Given the description of an element on the screen output the (x, y) to click on. 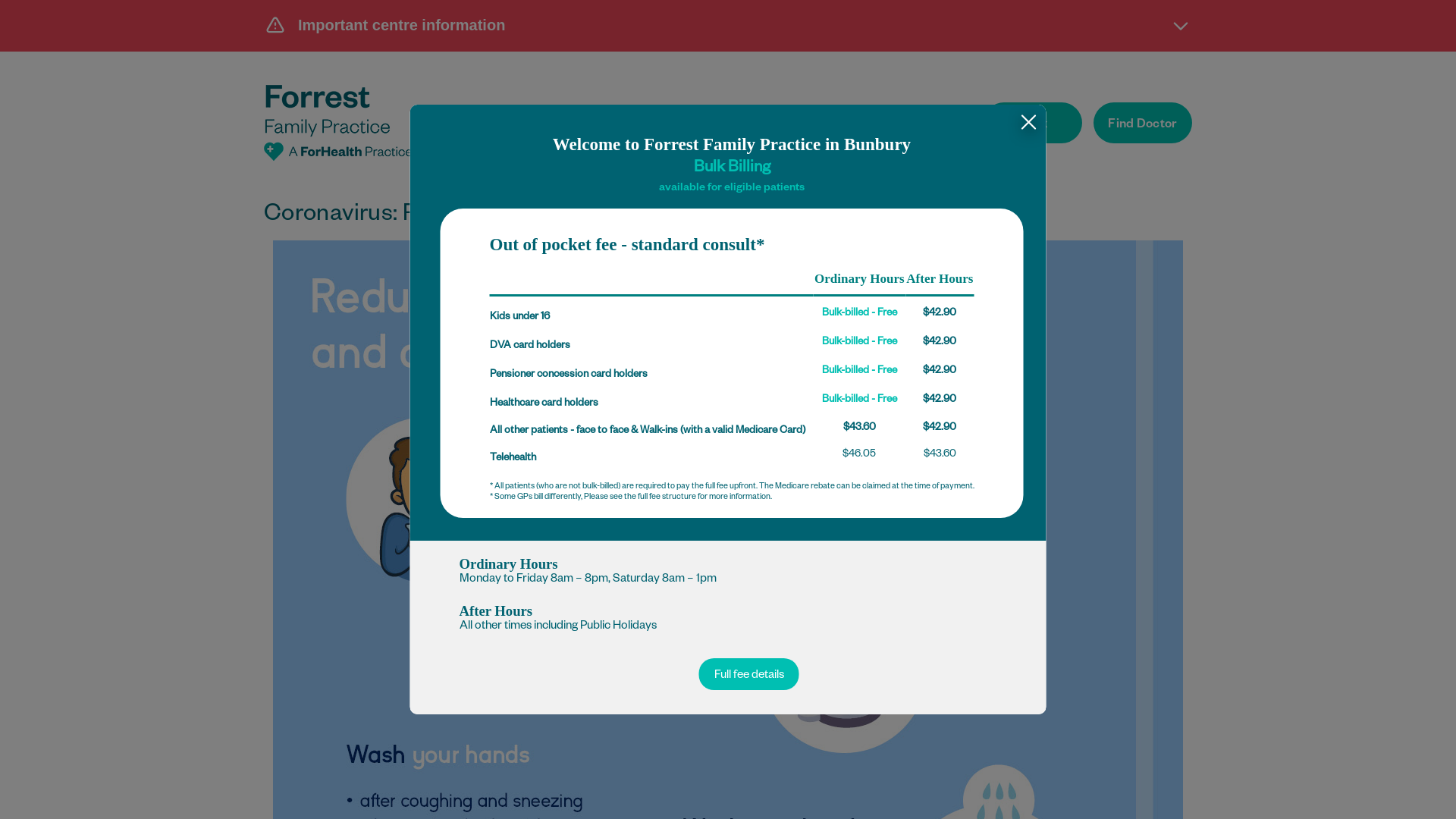
Opportunities Element type: text (906, 125)
Important centre information Element type: text (727, 24)
Full fee details Element type: text (749, 674)
Services Element type: text (681, 125)
Patient Fees Element type: text (785, 125)
Forrest Family Practice Element type: hover (337, 122)
Find Doctor Element type: text (1142, 122)
Book Element type: text (1032, 122)
